Given the description of an element on the screen output the (x, y) to click on. 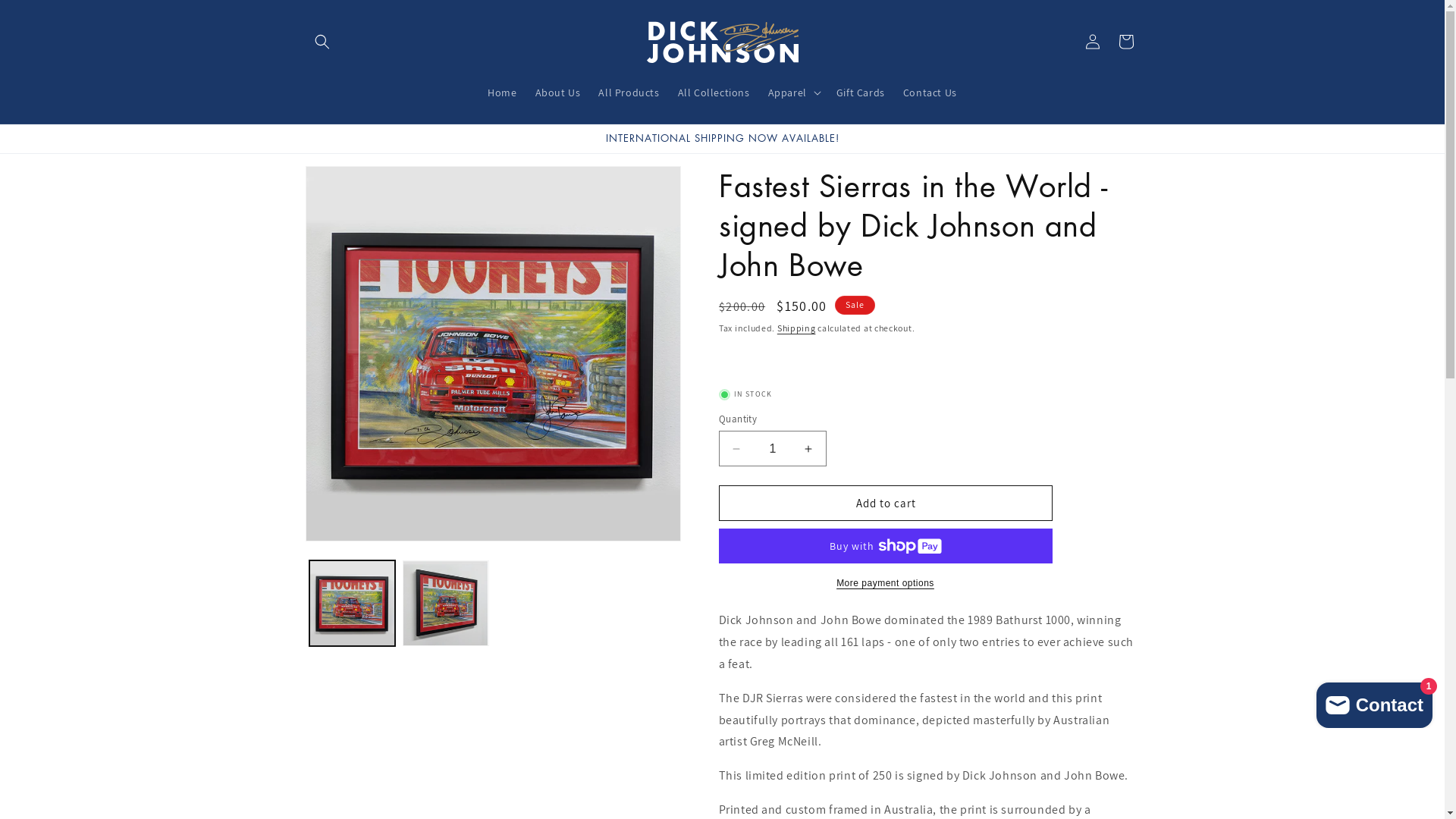
Add to cart Element type: text (885, 502)
Shopify online store chat Element type: hover (1374, 702)
All Collections Element type: text (713, 92)
Cart Element type: text (1125, 41)
More payment options Element type: text (885, 582)
Contact Us Element type: text (930, 92)
All Products Element type: text (628, 92)
About Us Element type: text (557, 92)
Shipping Element type: text (795, 327)
Gift Cards Element type: text (860, 92)
Log in Element type: text (1091, 41)
Home Element type: text (501, 92)
Skip to product information Element type: text (350, 182)
